Given the description of an element on the screen output the (x, y) to click on. 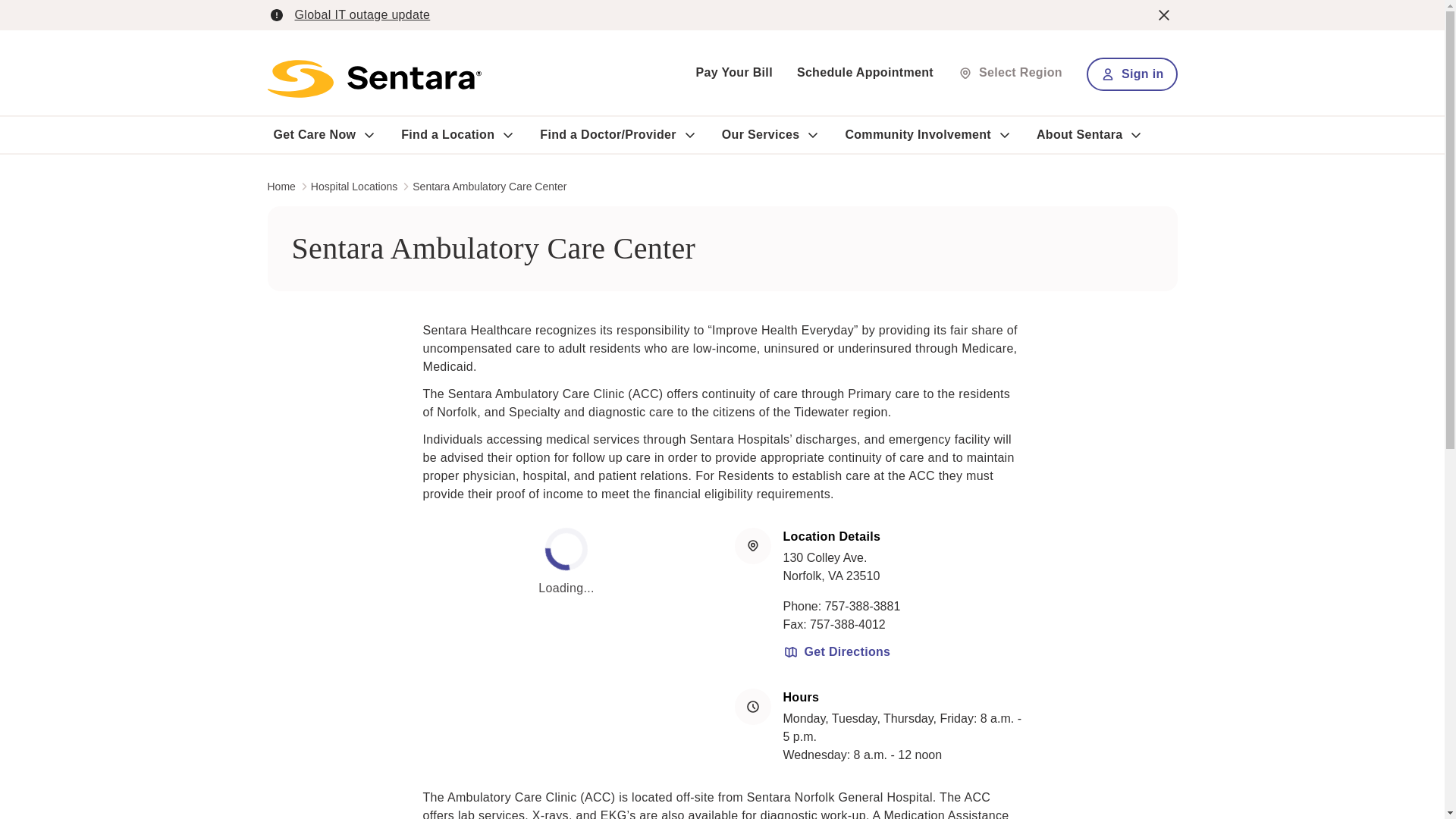
Global IT outage update (361, 14)
Pay Your Bill (734, 72)
Sign in (1131, 73)
Schedule Appointment (864, 72)
Select Region (1010, 72)
Get Care Now (314, 135)
Find a Location (448, 135)
